Given the description of an element on the screen output the (x, y) to click on. 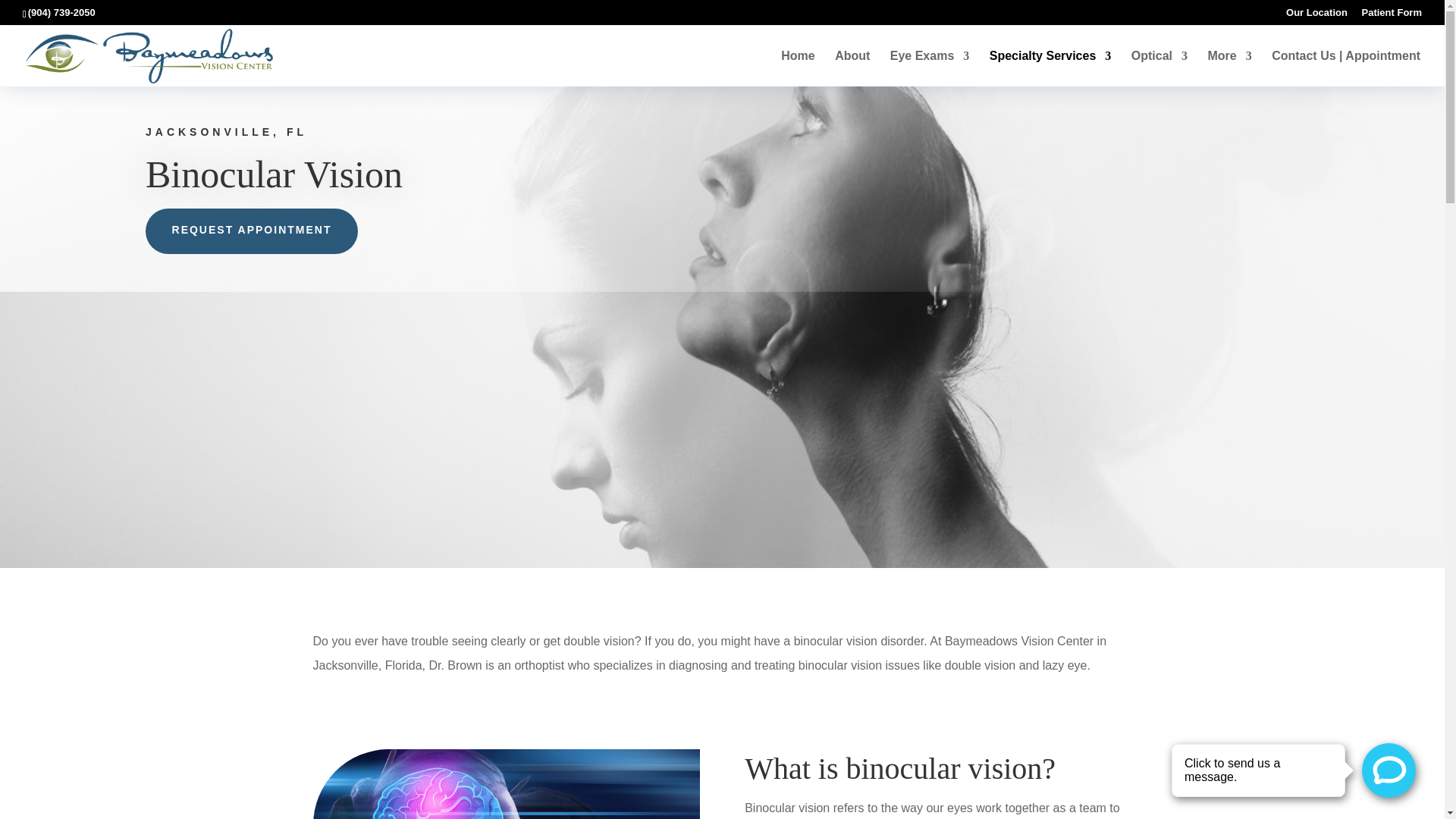
Patient Form (1391, 16)
Eye Exams (929, 67)
Home (796, 67)
Our Location (1316, 16)
About (851, 67)
Specialty Services (1051, 67)
Optical (1159, 67)
More (1228, 67)
